Given the description of an element on the screen output the (x, y) to click on. 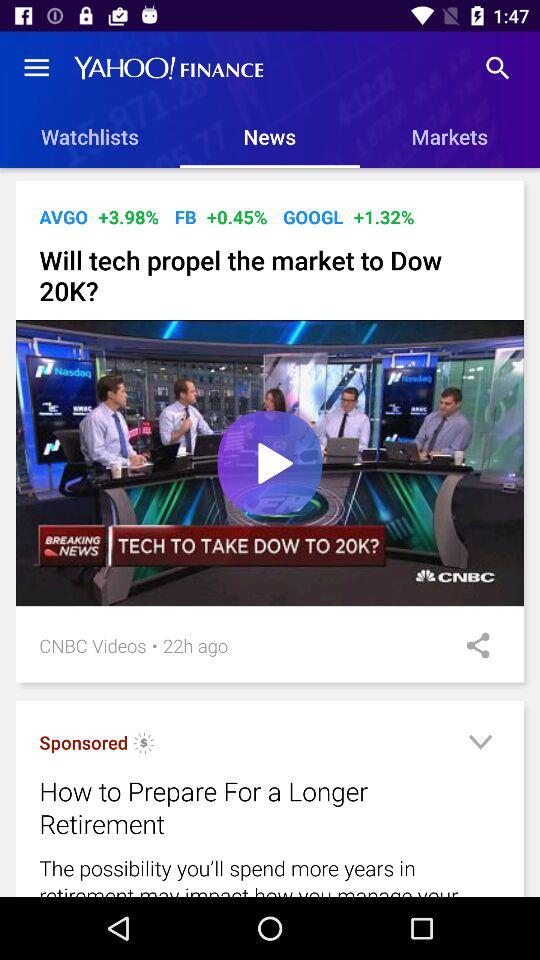
select the sponsored (83, 742)
